Given the description of an element on the screen output the (x, y) to click on. 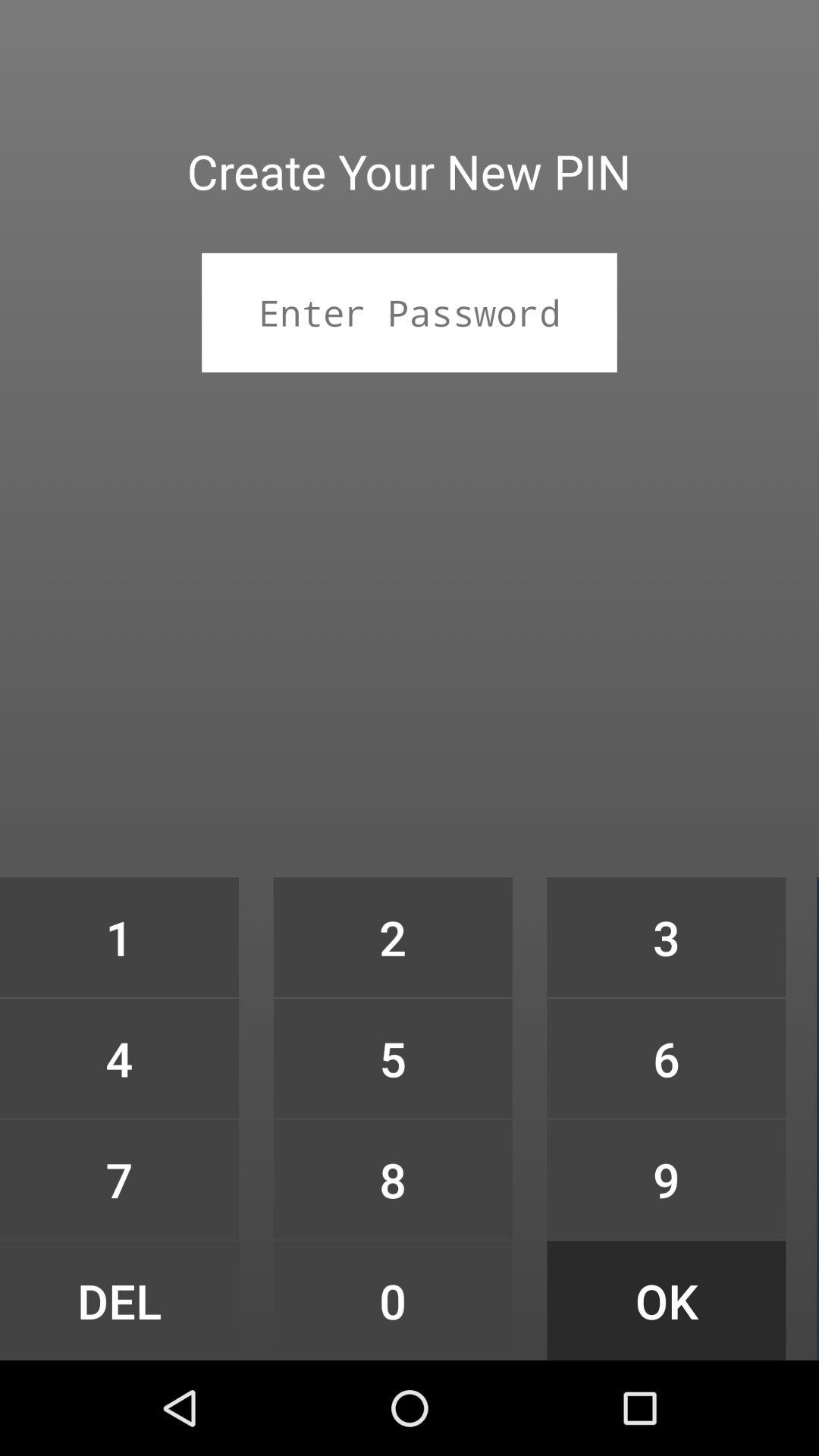
turn off 3 item (666, 937)
